Given the description of an element on the screen output the (x, y) to click on. 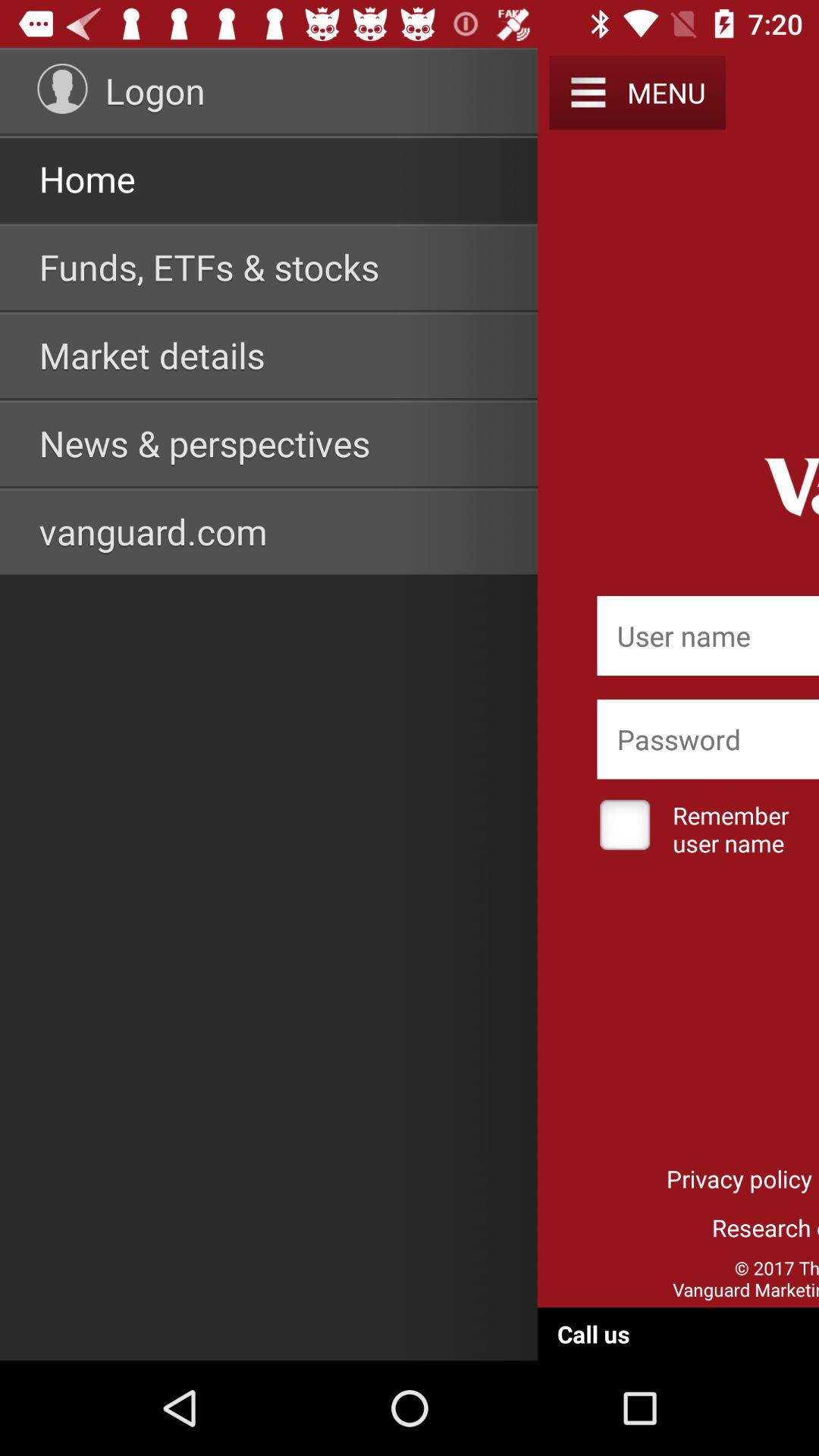
open the call us icon (593, 1333)
